Given the description of an element on the screen output the (x, y) to click on. 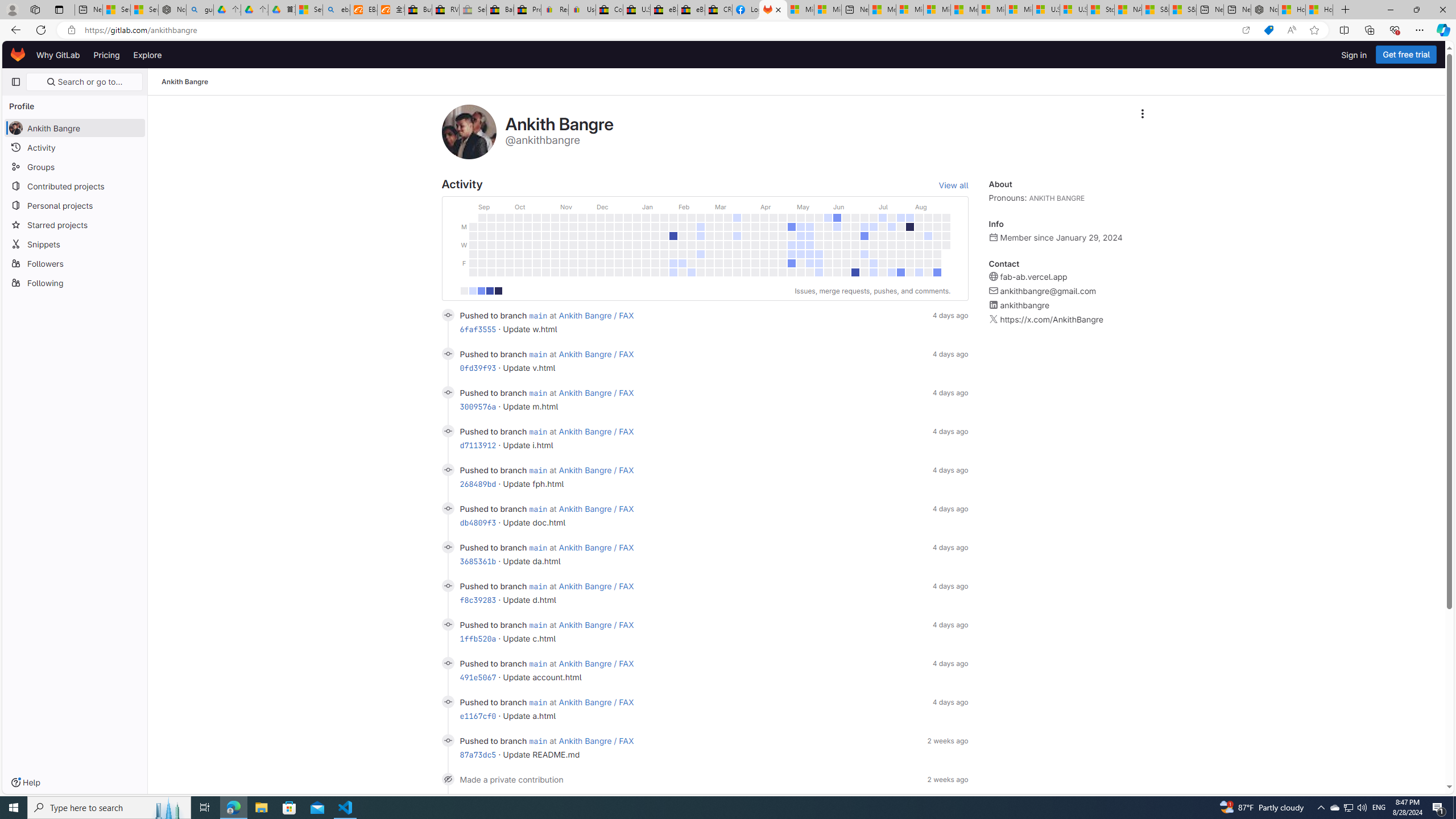
Sell worldwide with eBay - Sleeping (473, 9)
